Given the description of an element on the screen output the (x, y) to click on. 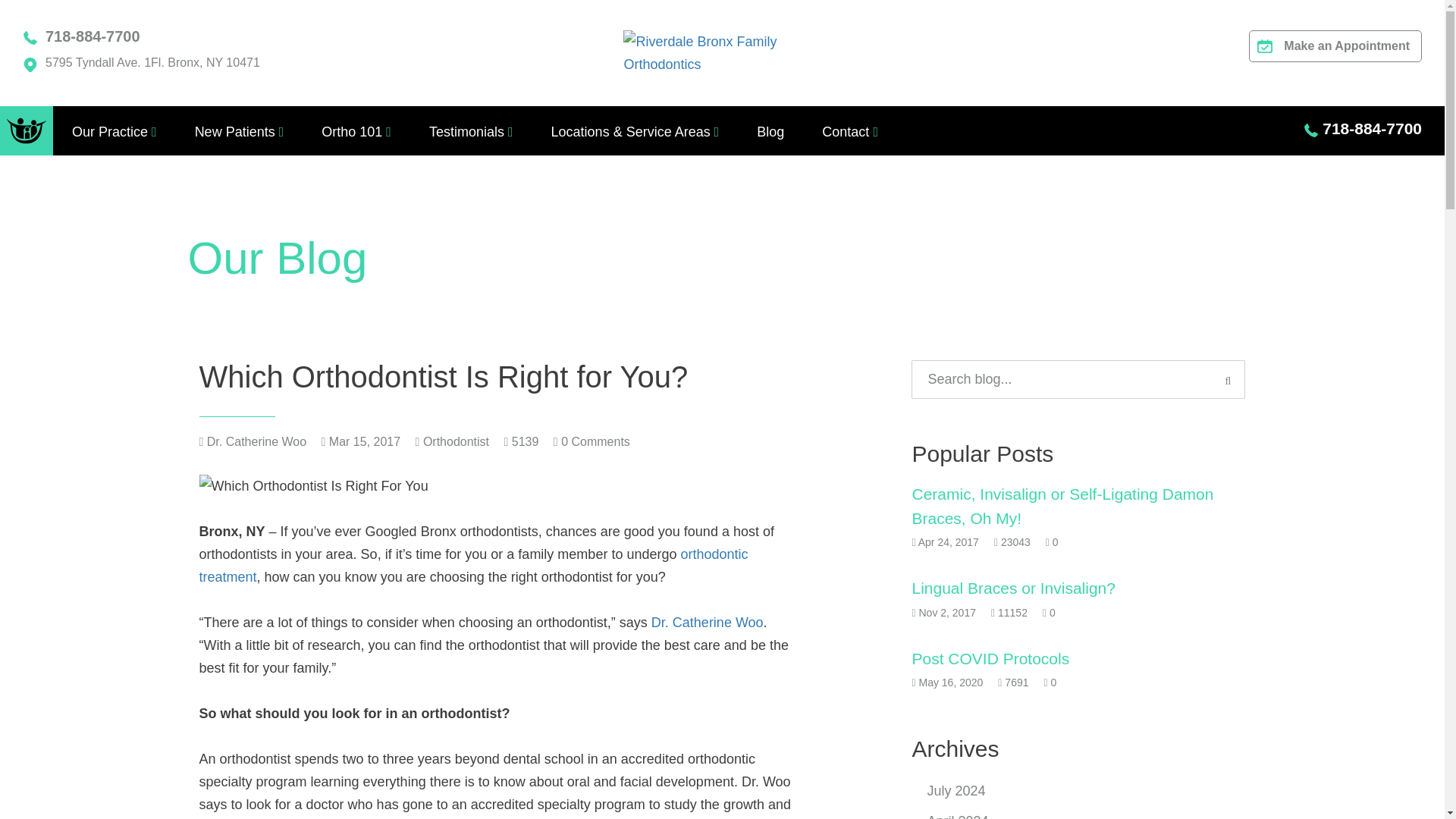
Make an Appointment (1335, 46)
New Patients (235, 131)
Our Practice (109, 131)
Contact (845, 131)
5795 Tyndall Ave. 1Fl. Bronx, NY 10471 (152, 62)
Ortho 101 (351, 131)
Testimonials (466, 131)
Blog (770, 131)
718-884-7700 (92, 36)
Home (26, 130)
